Given the description of an element on the screen output the (x, y) to click on. 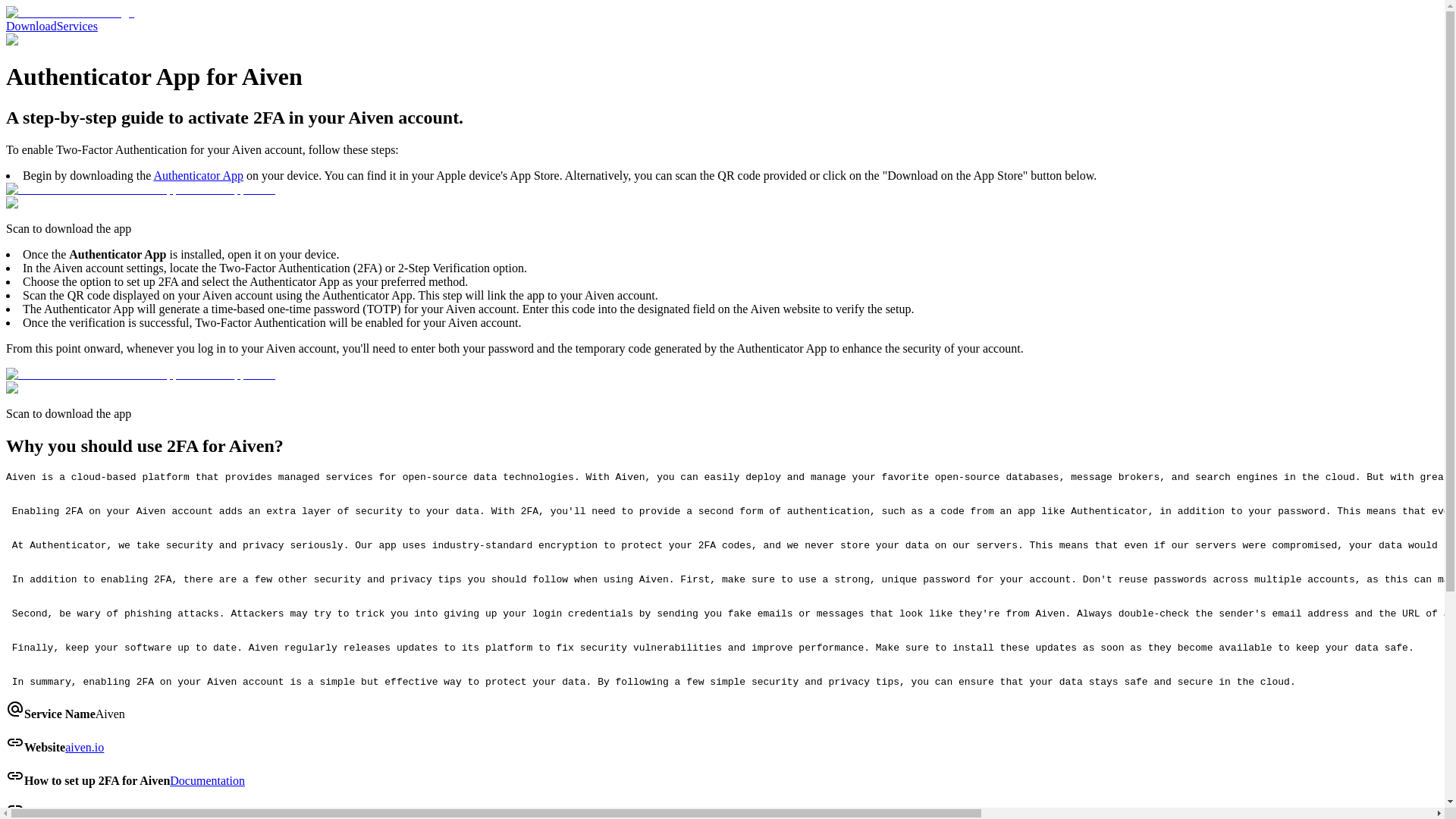
Aiven support team (775, 813)
Download (30, 25)
Documentation (207, 780)
aiven.io (84, 747)
Services (76, 25)
Authenticator App (197, 174)
